Given the description of an element on the screen output the (x, y) to click on. 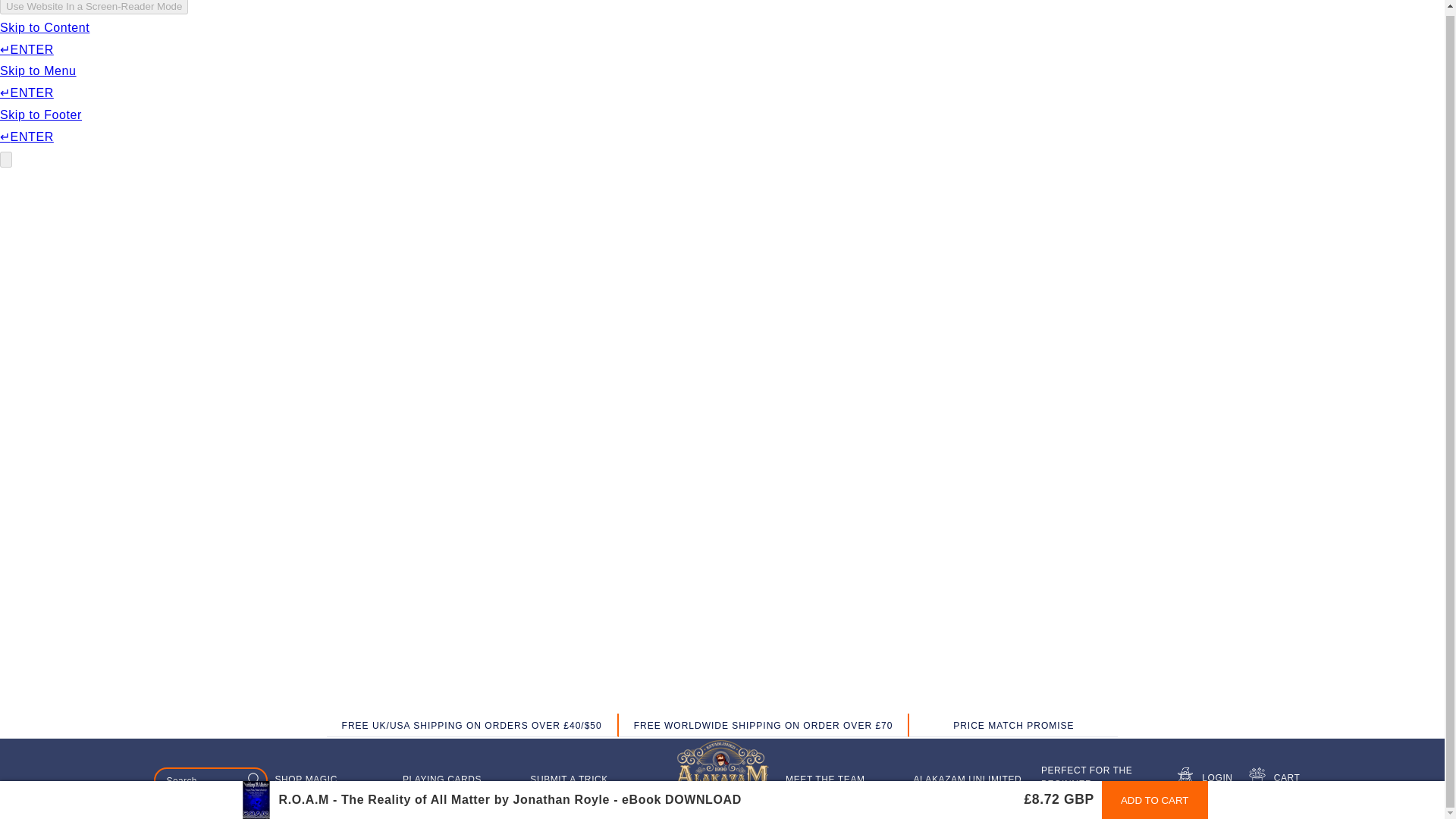
Skip to content (45, 14)
PRICE MATCH PROMISE (1013, 726)
